Given the description of an element on the screen output the (x, y) to click on. 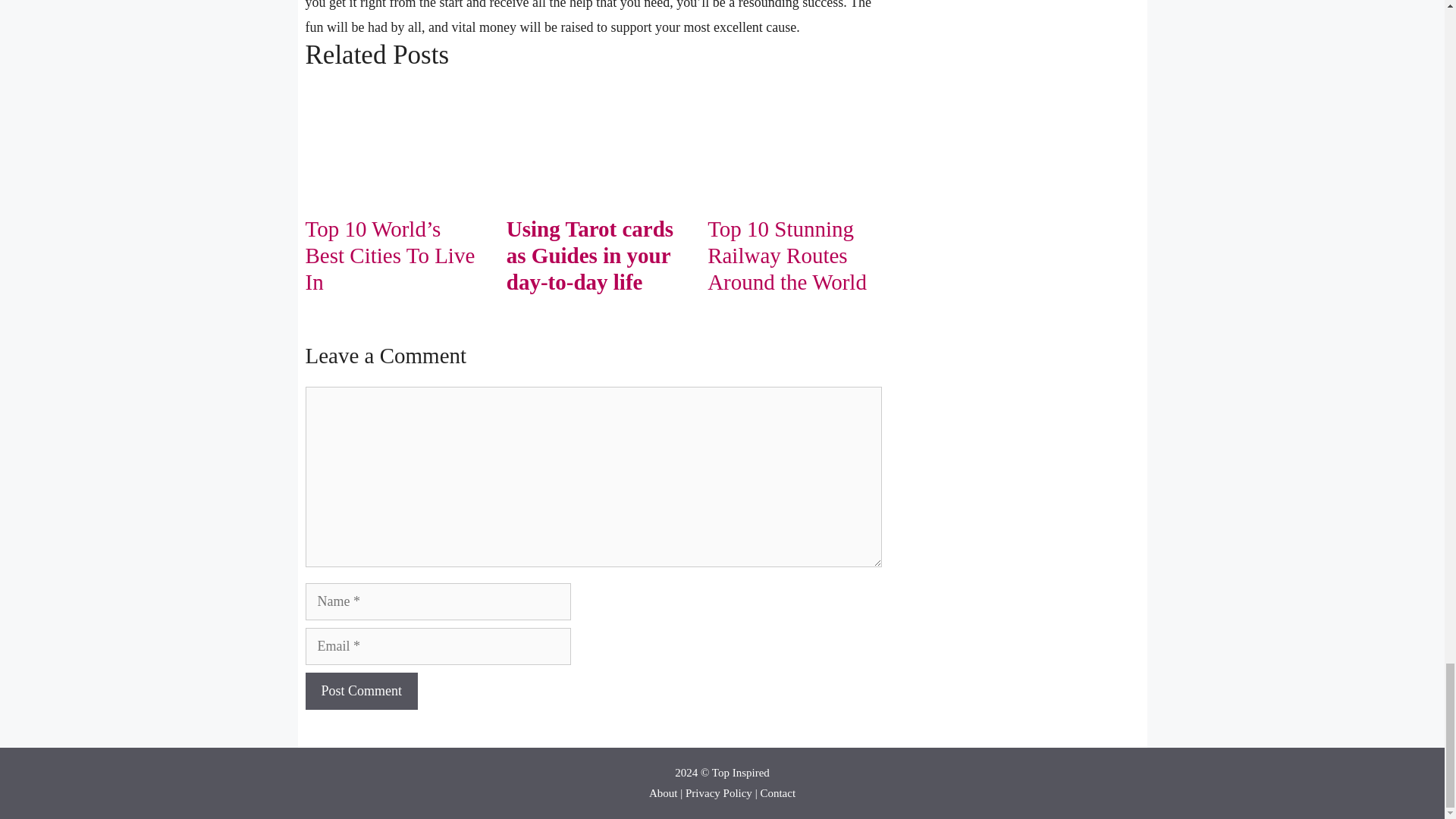
Using Tarot cards as Guides in your day-to-day life (592, 190)
About (663, 793)
Top 10 Stunning Railway Routes Around the World (786, 255)
Post Comment (360, 691)
Using Tarot cards as Guides in your day-to-day life (589, 255)
Contact (777, 793)
Privacy Policy (718, 793)
Post Comment (360, 691)
